Given the description of an element on the screen output the (x, y) to click on. 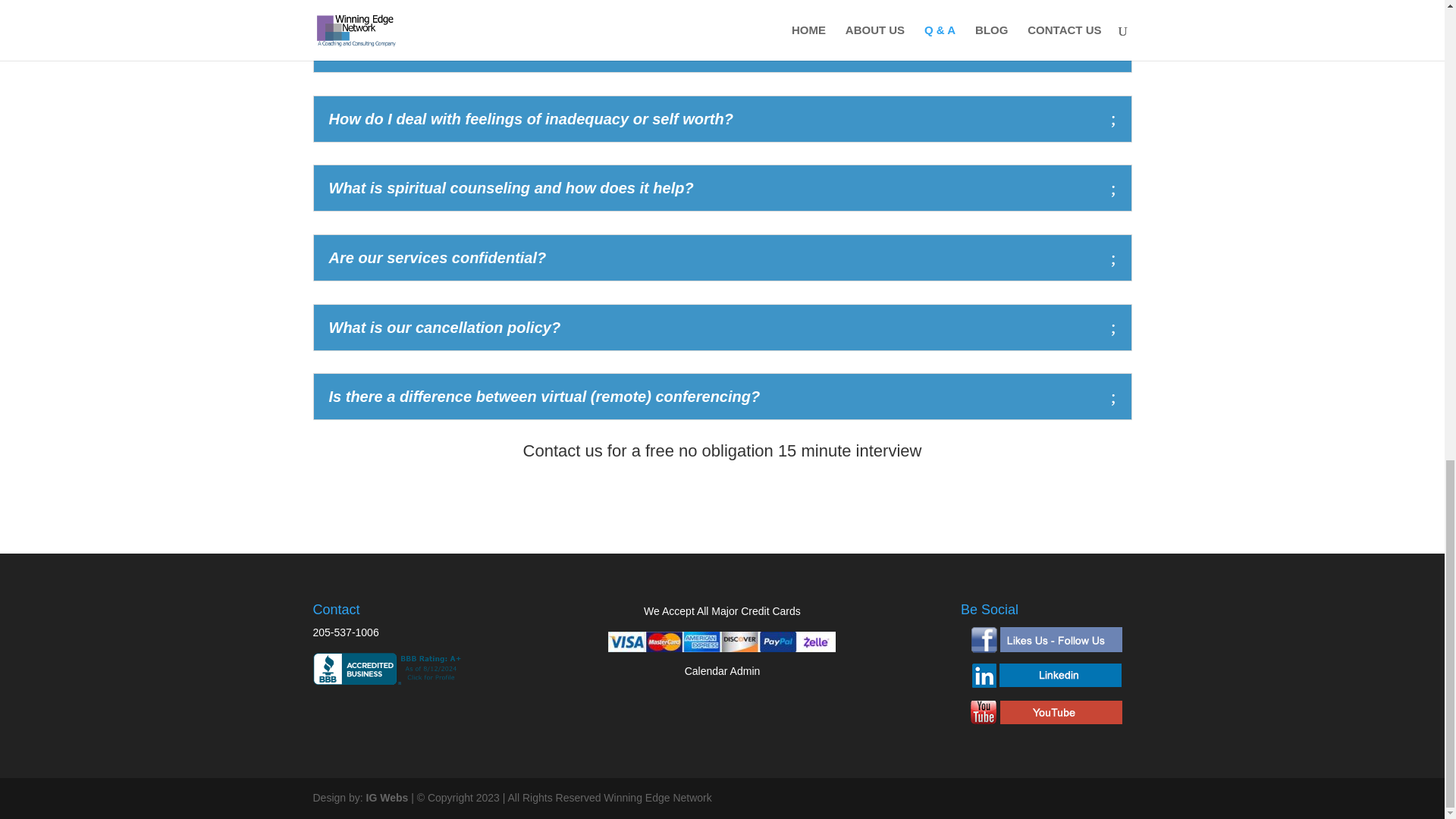
IG Webs (387, 797)
Calendar (706, 671)
Admin (745, 671)
